Given the description of an element on the screen output the (x, y) to click on. 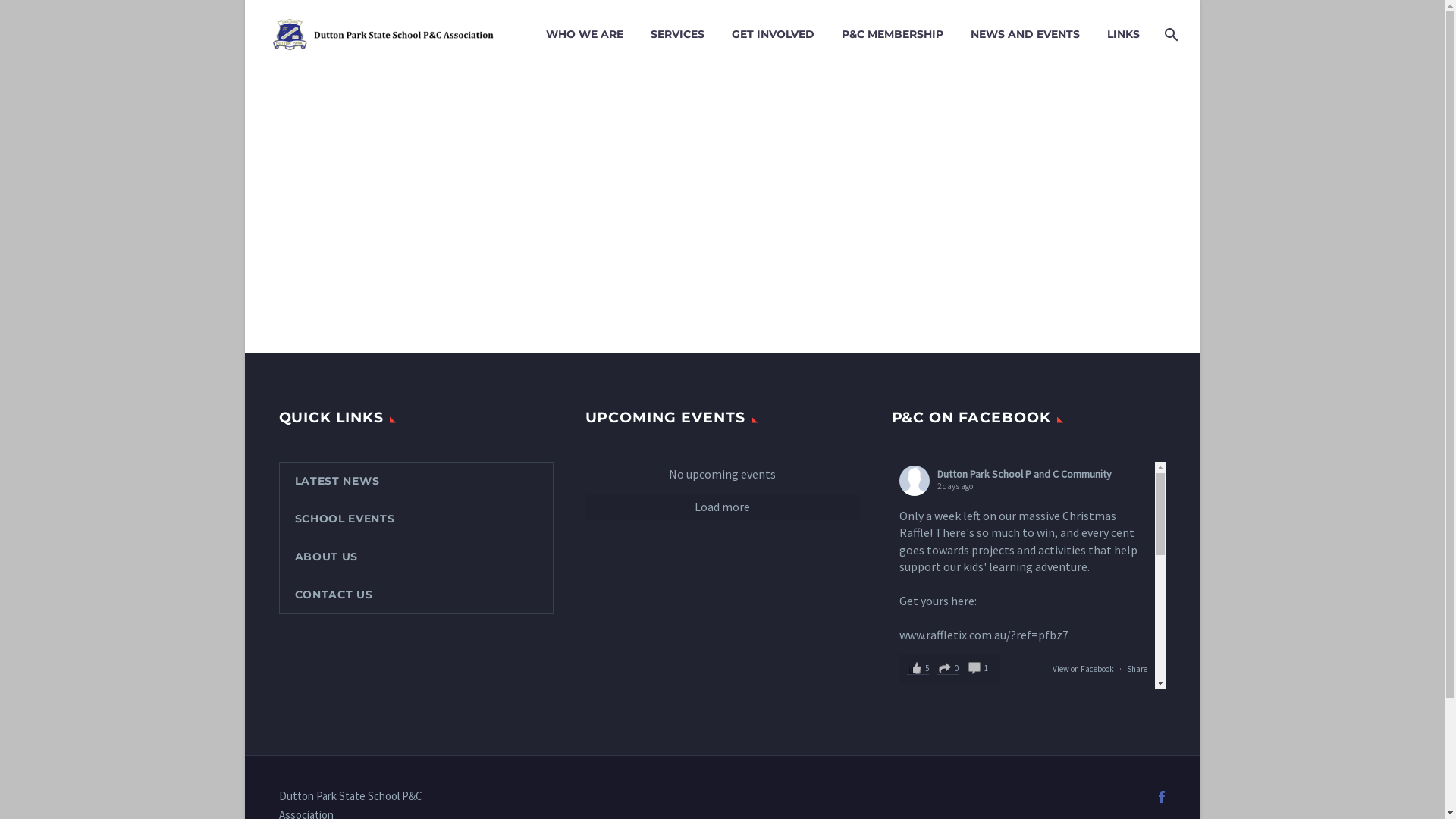
LATEST NEWS Element type: text (415, 480)
SCHOOL EVENTS Element type: text (415, 518)
View on Facebook Element type: text (1082, 668)
Dutton Park School P and C Community Element type: text (1024, 721)
WHO WE ARE Element type: text (583, 34)
facebook Element type: hover (1161, 796)
P&C MEMBERSHIP Element type: text (891, 34)
NEWS AND EVENTS Element type: text (1024, 34)
View Comments
Likes:
5
Shares:
0
Comments:
1 Element type: text (949, 668)
LINKS Element type: text (1122, 34)
www.raffletix.com.au/?ref=pfbz7 Element type: text (983, 634)
SERVICES Element type: text (676, 34)
CONTACT US Element type: text (415, 594)
GET INVOLVED Element type: text (772, 34)
Dutton Park School P and C Community Element type: text (1024, 473)
ABOUT US Element type: text (415, 556)
Load more Element type: text (722, 506)
Share Element type: text (1136, 668)
